Given the description of an element on the screen output the (x, y) to click on. 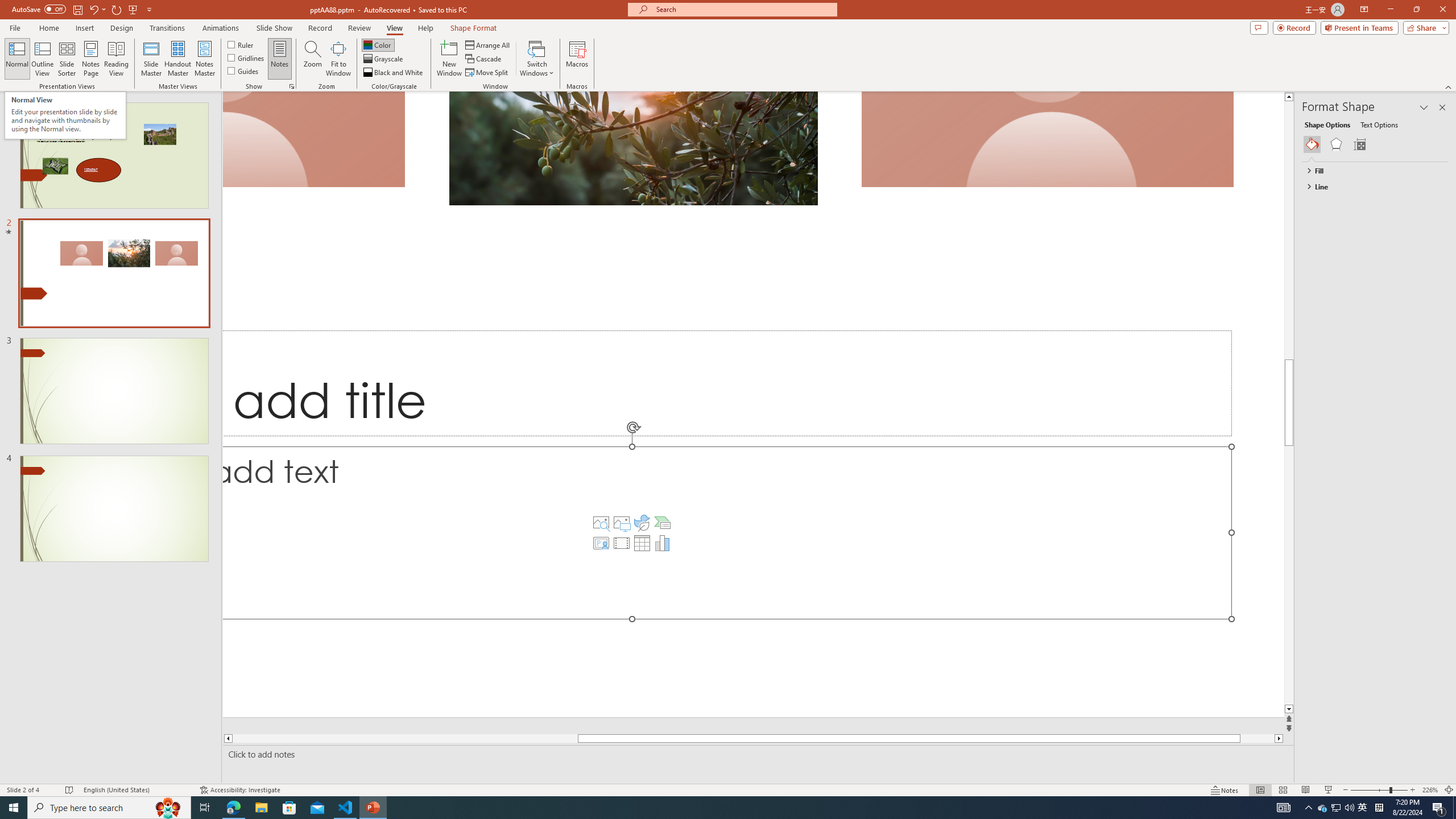
Grid Settings... (291, 85)
Black and White (393, 72)
New Window (449, 58)
Color (377, 44)
Insert Chart (662, 542)
Ruler (241, 44)
Switch Windows (537, 58)
